Given the description of an element on the screen output the (x, y) to click on. 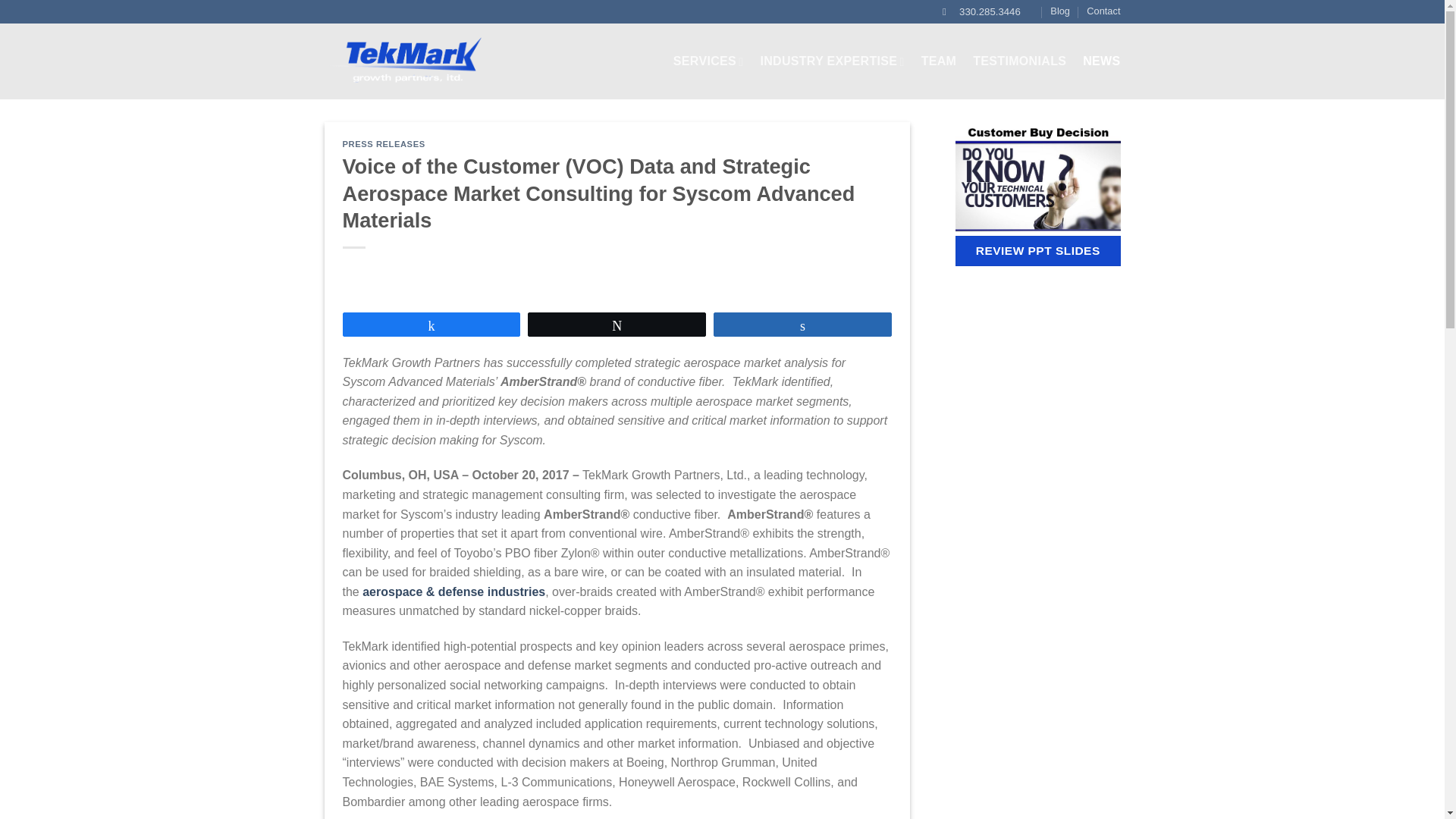
  330.285.3446 (981, 11)
TESTIMONIALS (1018, 61)
NEWS (1101, 61)
TEAM (938, 61)
PRESS RELEASES (383, 143)
Contact (1102, 11)
SERVICES (708, 61)
INDUSTRY EXPERTISE (832, 61)
